Given the description of an element on the screen output the (x, y) to click on. 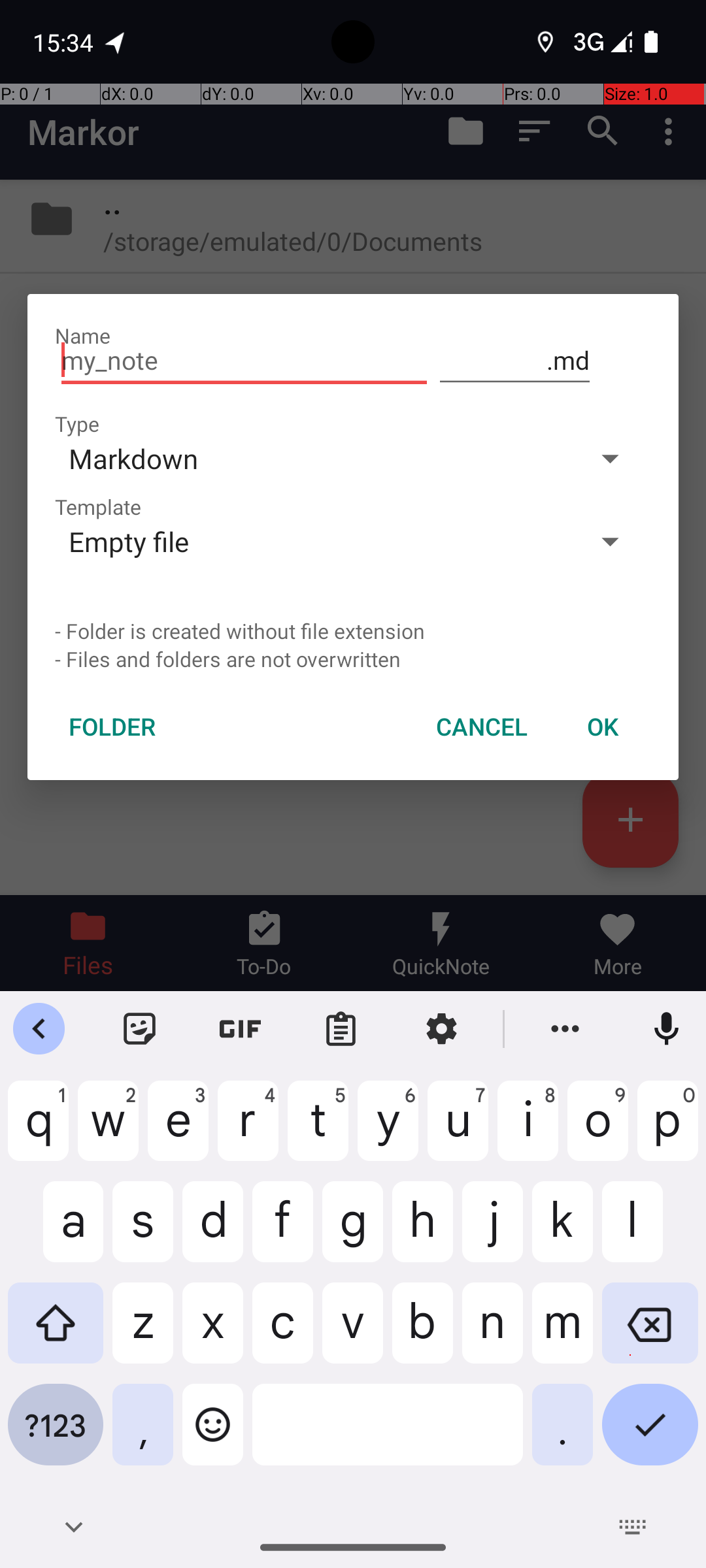
my_note Element type: android.widget.EditText (243, 360)
.md Element type: android.widget.EditText (514, 360)
Empty file Element type: android.widget.TextView (311, 540)
